Given the description of an element on the screen output the (x, y) to click on. 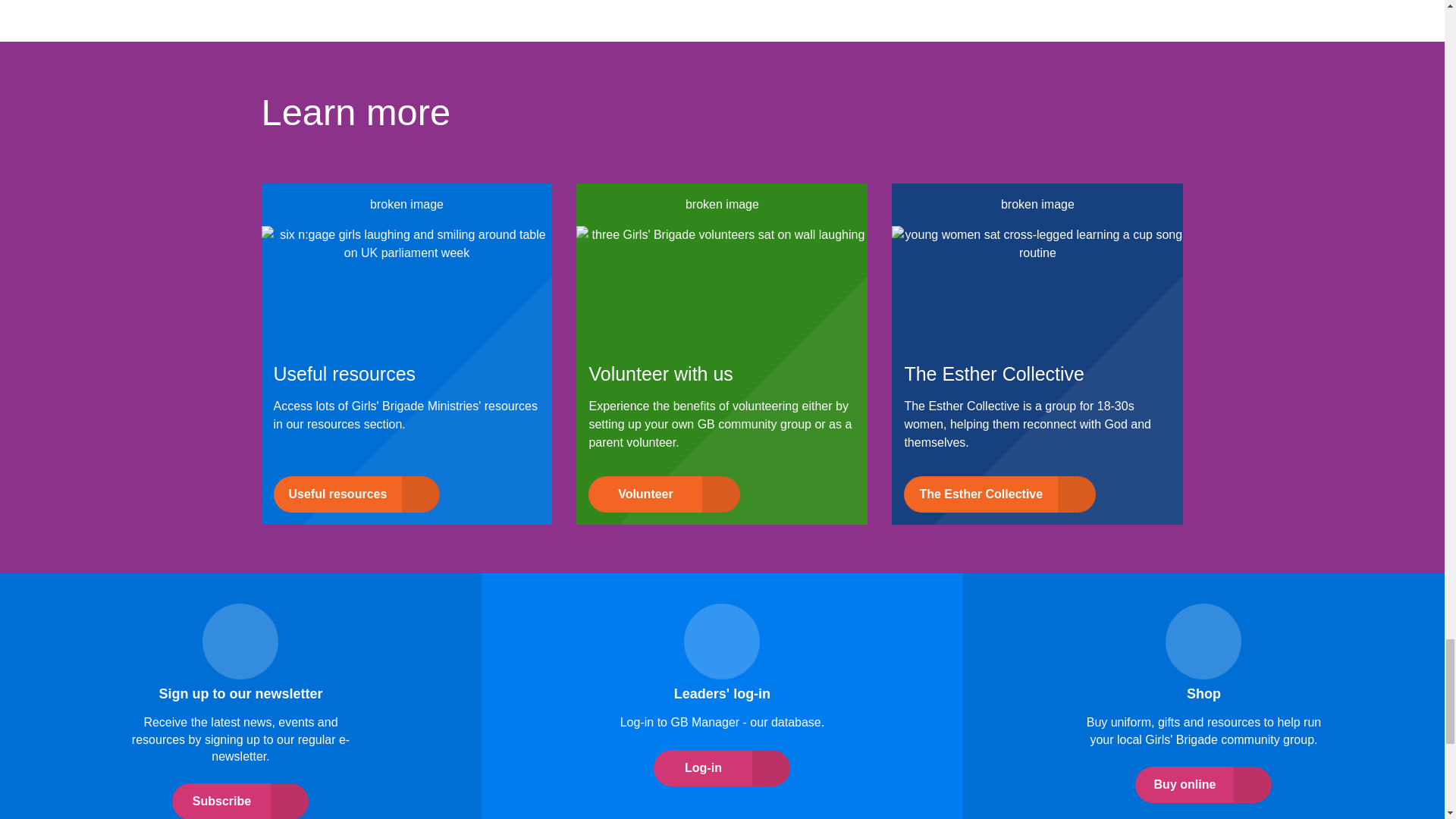
Login (1204, 641)
Newsletter (240, 641)
Login (722, 641)
